Given the description of an element on the screen output the (x, y) to click on. 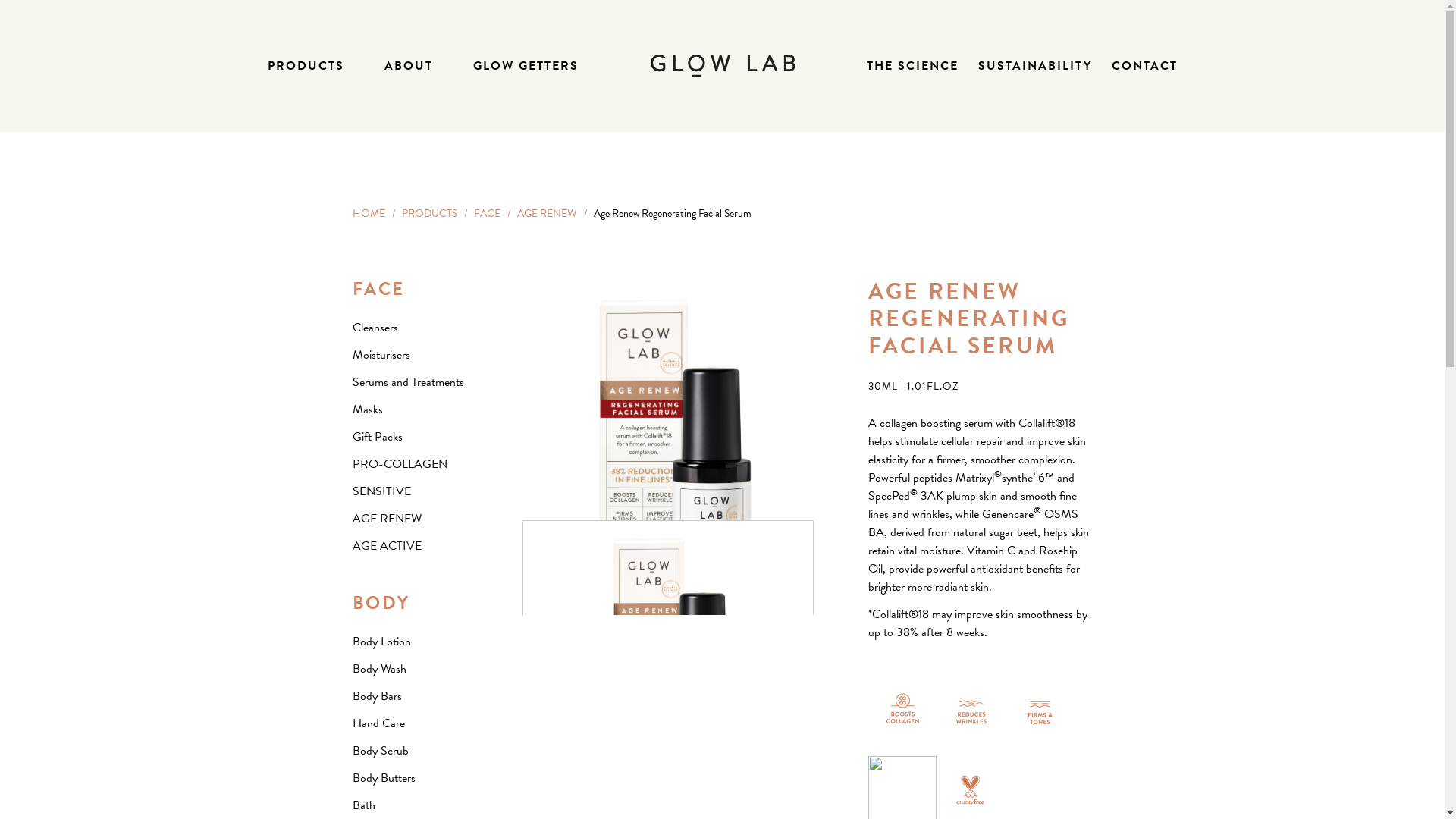
SENSITIVE Element type: text (380, 491)
PRODUCTS Element type: text (304, 65)
Body Wash Element type: text (378, 668)
PRODUCTS Element type: text (429, 213)
FACE Element type: text (377, 288)
SUSTAINABILITY Element type: text (1035, 65)
PRO-COLLAGEN Element type: text (398, 464)
CONTACT Element type: text (1144, 65)
Masks Element type: text (366, 409)
Body Butters Element type: text (382, 777)
THE SCIENCE Element type: text (911, 65)
BODY Element type: text (380, 602)
Hand Care Element type: text (377, 723)
FACE Element type: text (486, 213)
Bath Element type: text (362, 805)
Serums and Treatments Element type: text (407, 382)
AGE RENEW Element type: text (547, 213)
Moisturisers Element type: text (380, 354)
GLOW GETTERS Element type: text (525, 65)
Age Renew Regenerating Facial Serum Element type: hover (667, 459)
Body Bars Element type: text (376, 696)
Body Scrub Element type: text (379, 750)
Gift Packs Element type: text (376, 436)
Body Lotion Element type: text (380, 641)
Cleansers Element type: text (374, 327)
HOME Element type: text (367, 213)
Age Renew Regenerating Facial Serum Element type: hover (667, 665)
ABOUT Element type: text (407, 65)
AGE ACTIVE Element type: text (385, 545)
AGE RENEW Element type: text (385, 518)
